Given the description of an element on the screen output the (x, y) to click on. 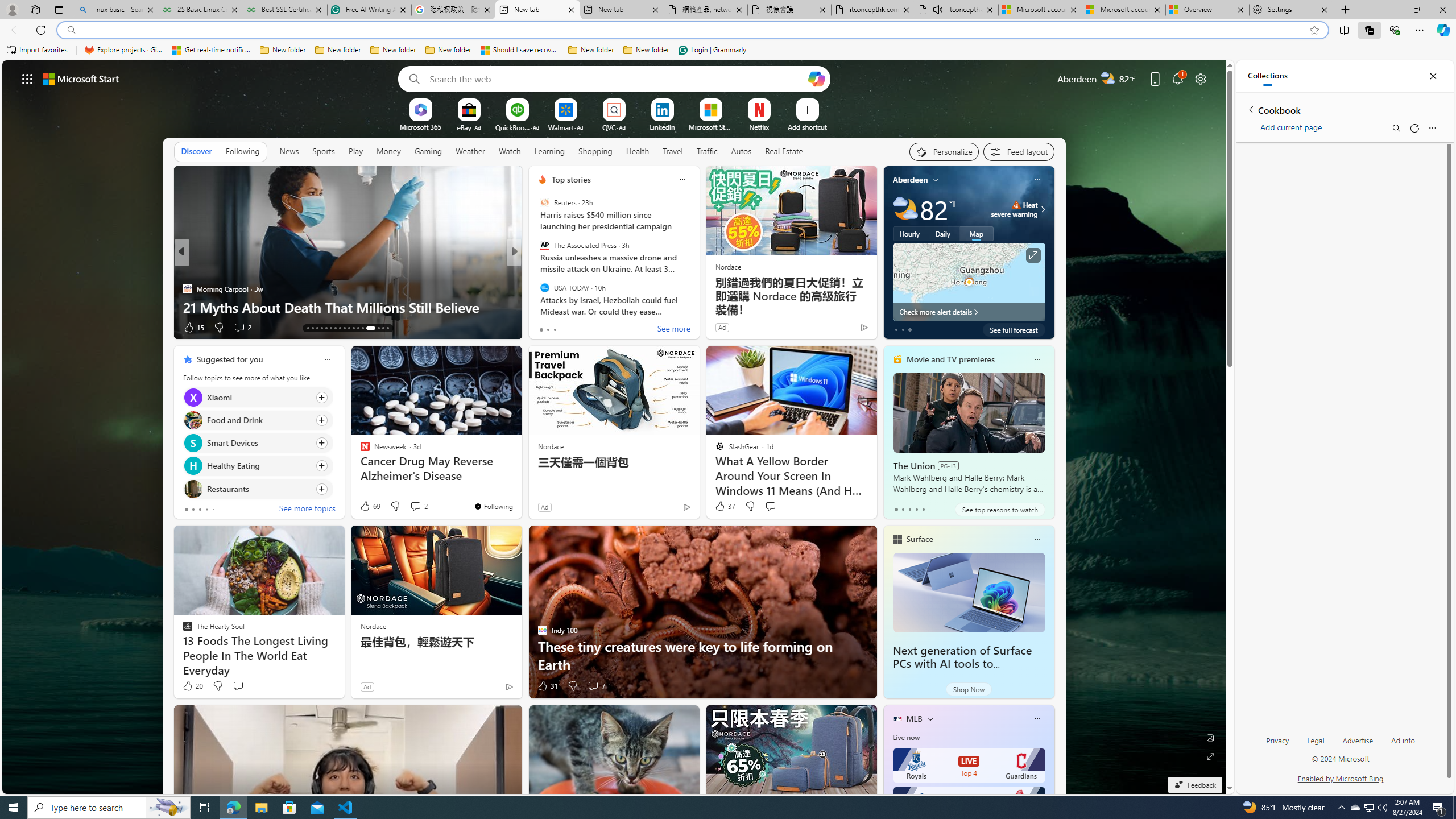
Favorites bar (728, 49)
Sports (323, 151)
AutomationID: tab-23 (353, 328)
Newsweek (537, 270)
Ad info (1402, 740)
AutomationID: tab-17 (326, 328)
More interests (930, 718)
Click to follow topic Healthy Eating (257, 465)
App launcher (27, 78)
View comments 2 Comment (418, 505)
tab-3 (916, 509)
